Given the description of an element on the screen output the (x, y) to click on. 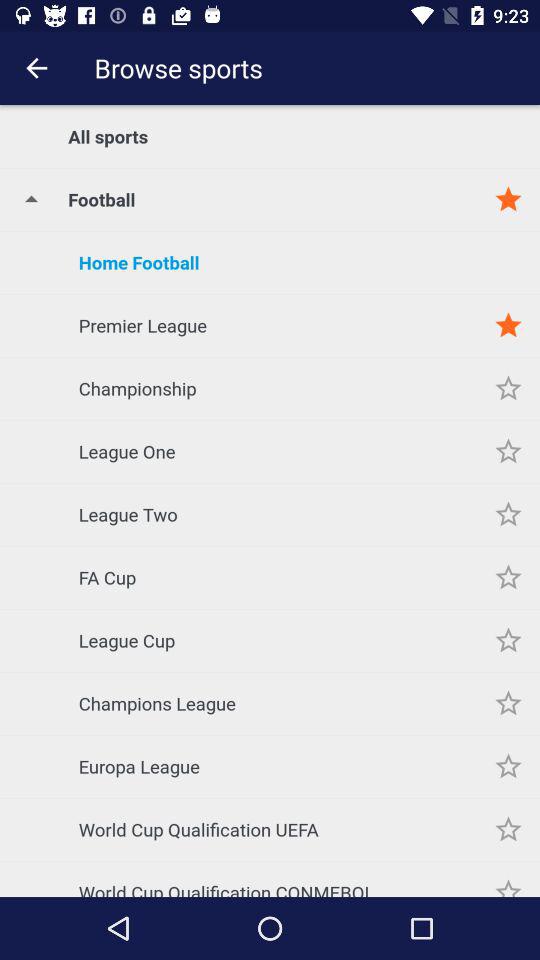
favorite the item (508, 879)
